Given the description of an element on the screen output the (x, y) to click on. 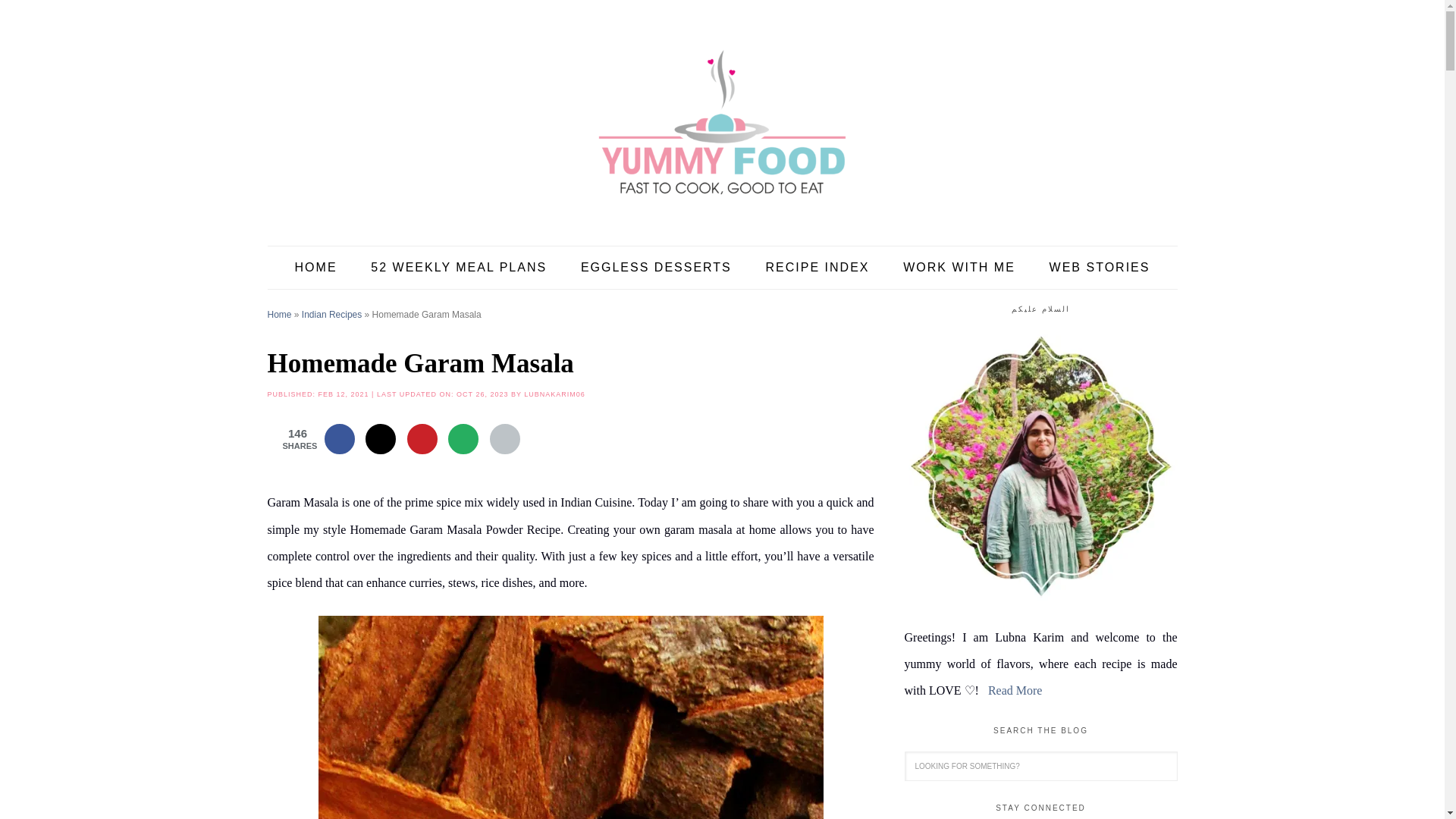
Share on X (380, 439)
WORK WITH ME (959, 267)
Yummy Food (721, 120)
Indian Recipes (331, 314)
RECIPE INDEX (818, 267)
EGGLESS DESSERTS (656, 267)
Send over email (463, 439)
Share on Facebook (339, 439)
Print this webpage (504, 439)
52 WEEKLY MEAL PLANS (458, 267)
Home (278, 314)
WEB STORIES (1099, 267)
Save to Pinterest (421, 439)
